Given the description of an element on the screen output the (x, y) to click on. 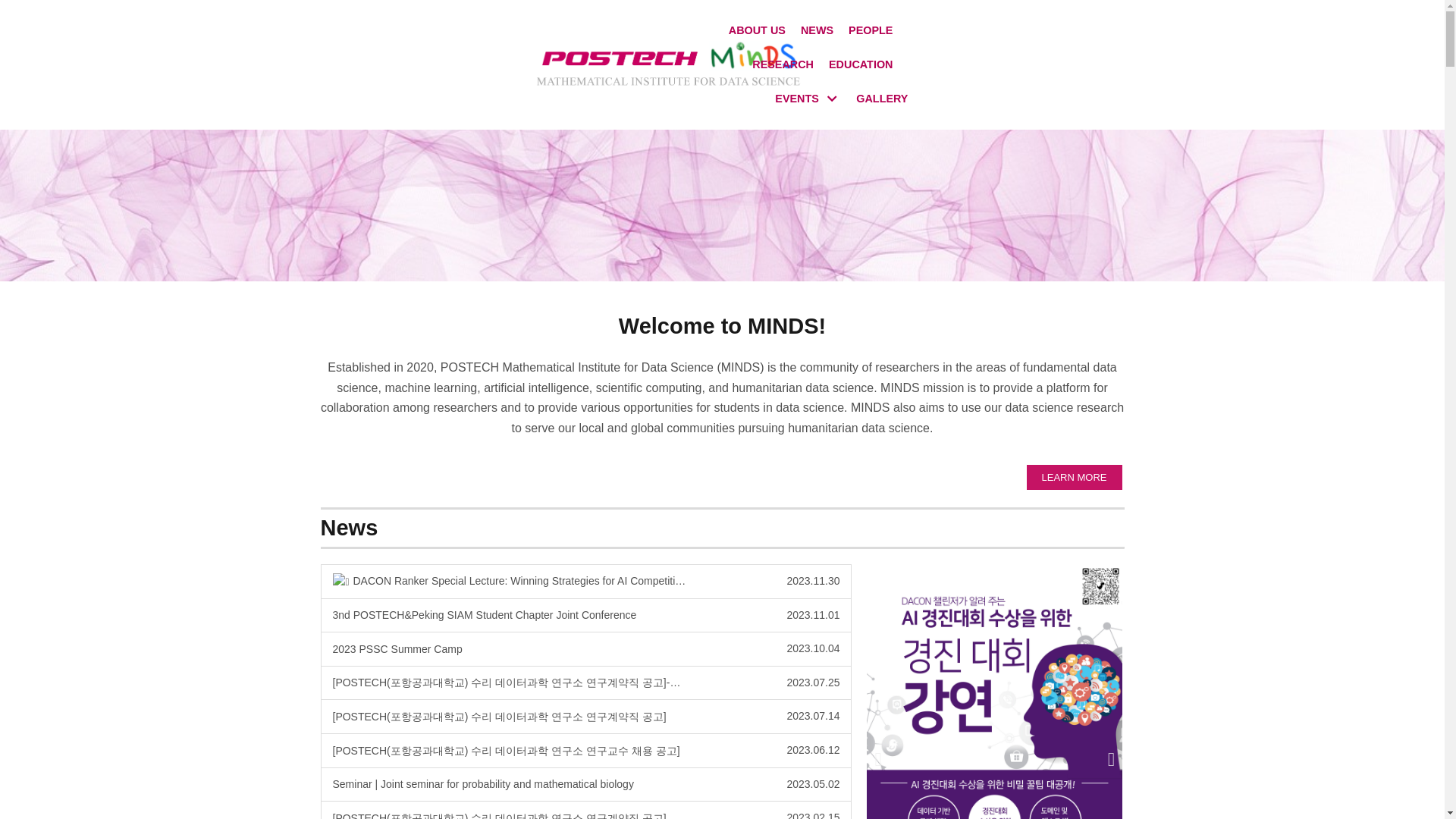
LEARN MORE (1074, 477)
ABOUT US (585, 648)
NEWS (757, 30)
EVENTS (816, 30)
RESEARCH (807, 98)
EDUCATION (782, 64)
GALLERY (860, 64)
PEOPLE (881, 98)
